Given the description of an element on the screen output the (x, y) to click on. 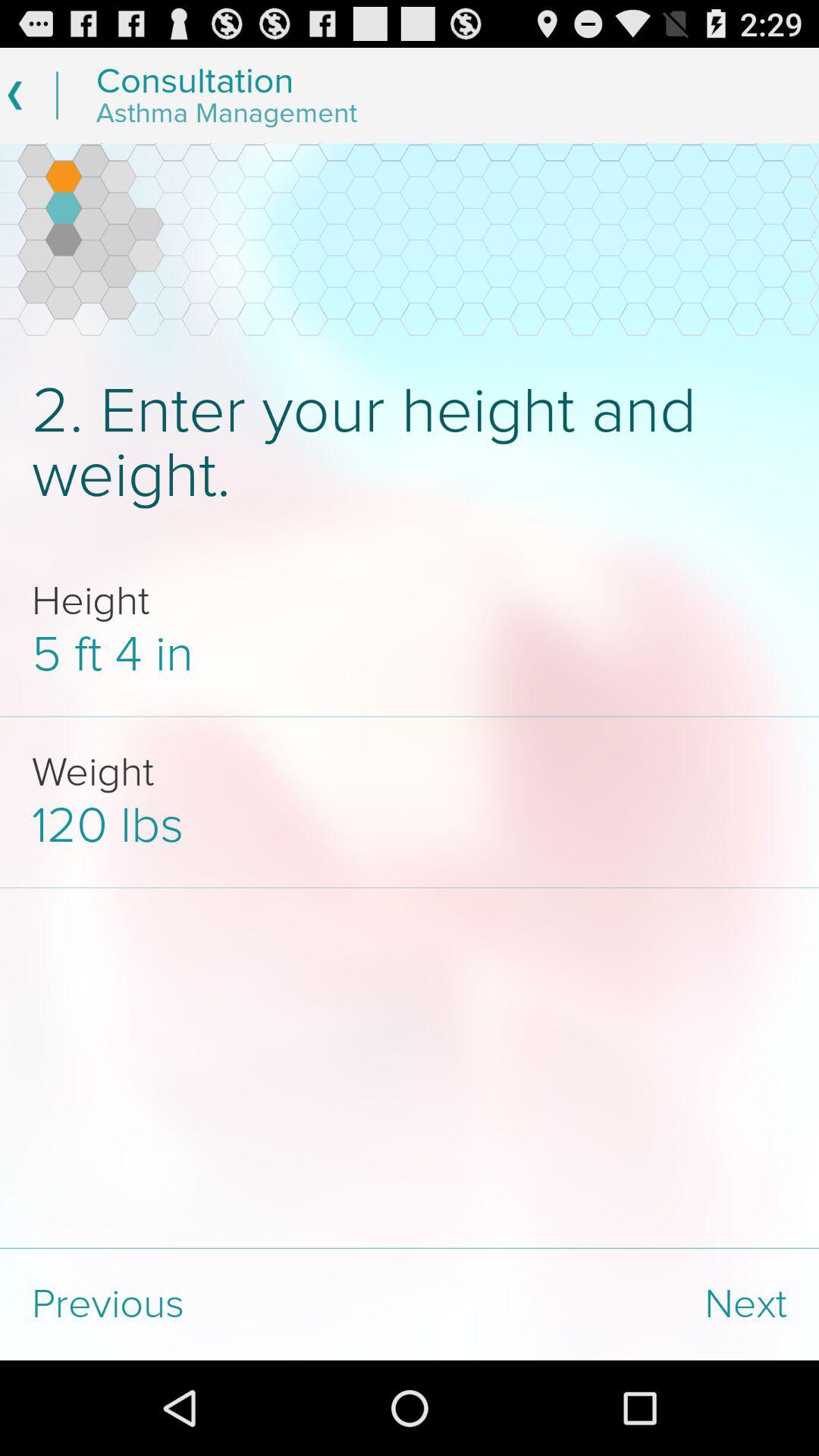
click the app above height icon (409, 443)
